Given the description of an element on the screen output the (x, y) to click on. 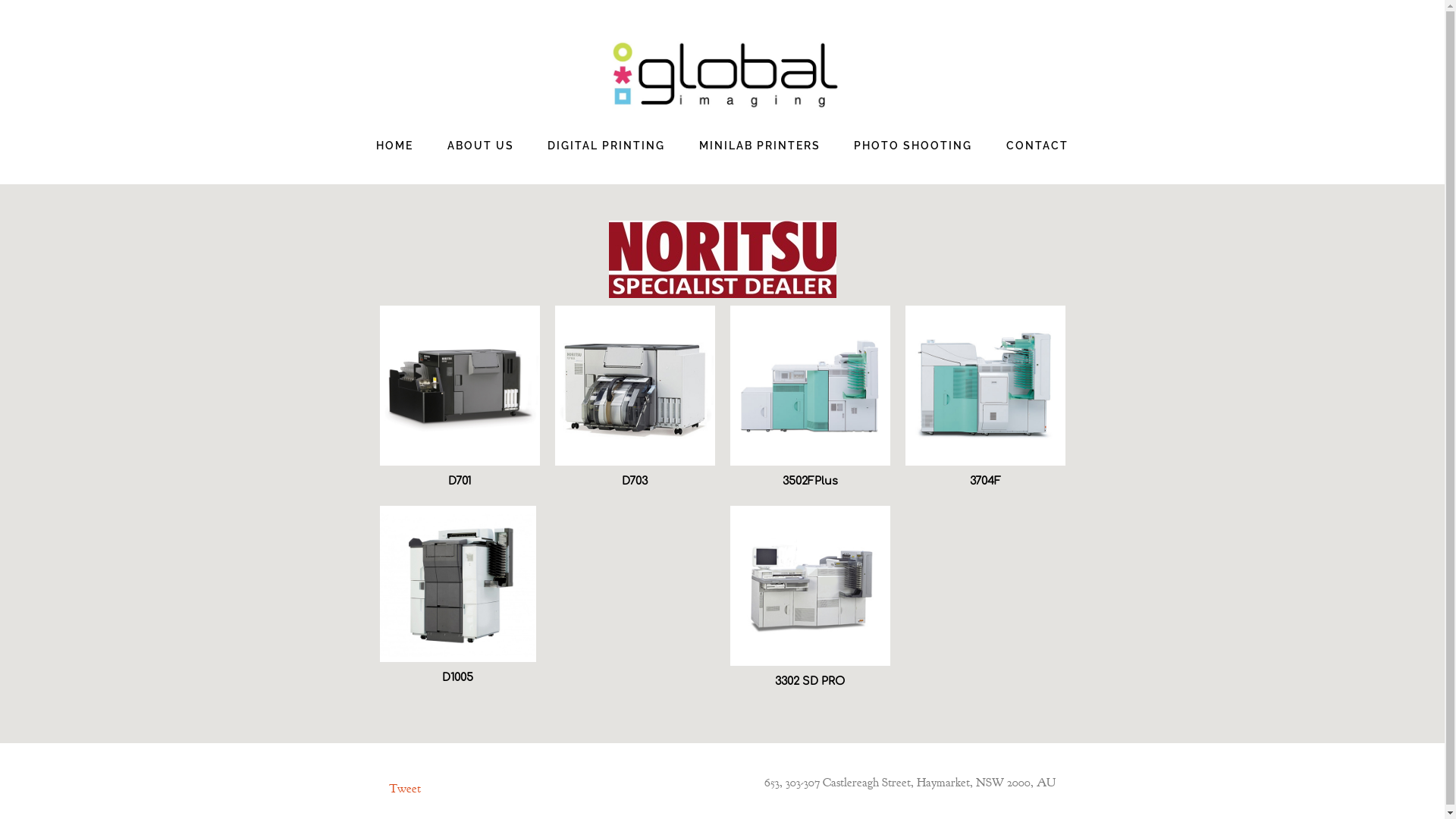
DIGITAL PRINTING Element type: text (606, 145)
ABOUT US Element type: text (480, 145)
D701 Element type: text (459, 480)
CONTACT Element type: text (1037, 145)
HOME Element type: text (394, 145)
Tweet Element type: text (404, 788)
MINILAB PRINTERS Element type: text (759, 145)
D703 Element type: text (634, 480)
PHOTO SHOOTING Element type: text (912, 145)
3302 SD PRO Element type: text (809, 680)
